Given the description of an element on the screen output the (x, y) to click on. 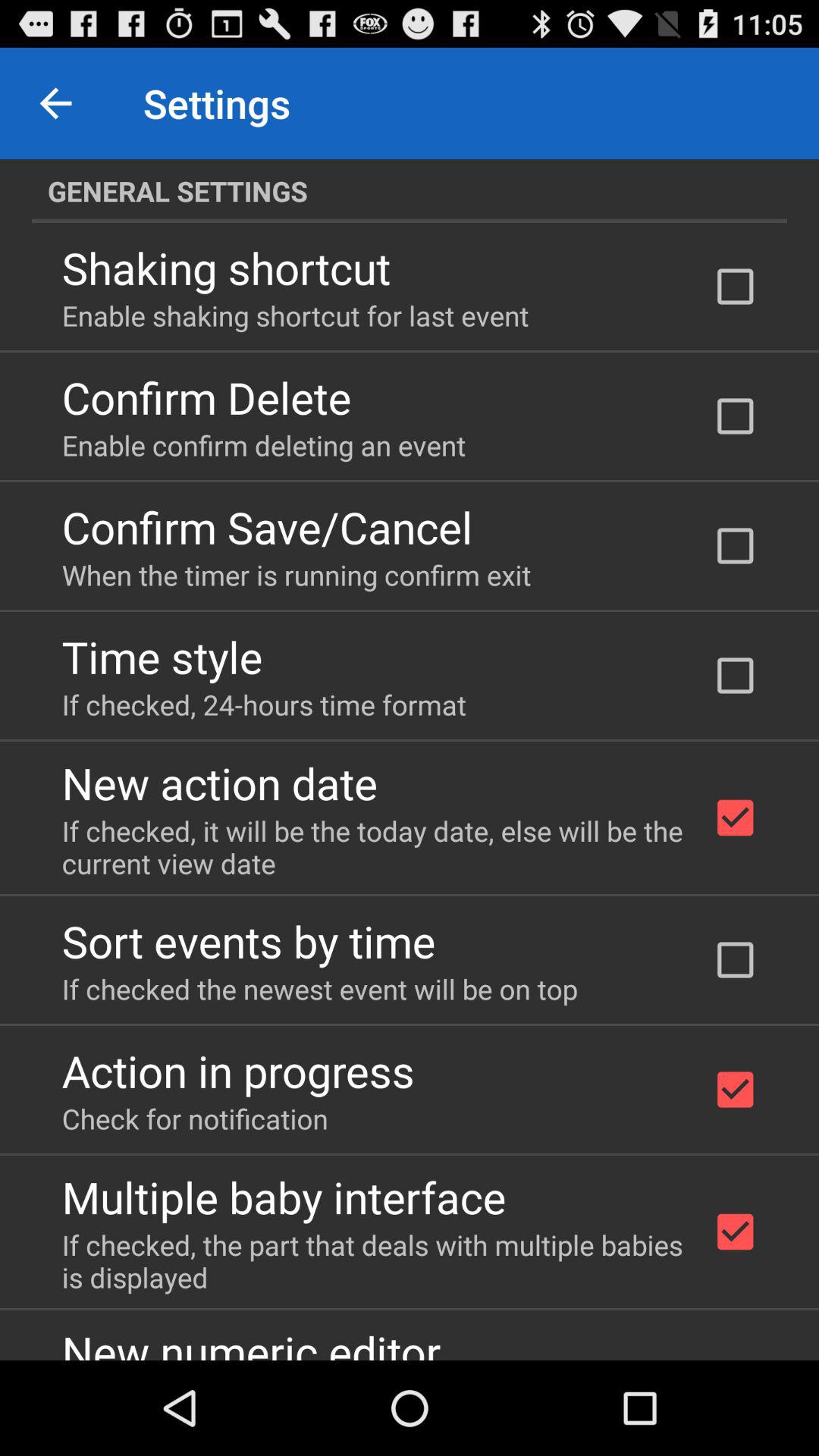
select the item above general settings icon (55, 103)
